Given the description of an element on the screen output the (x, y) to click on. 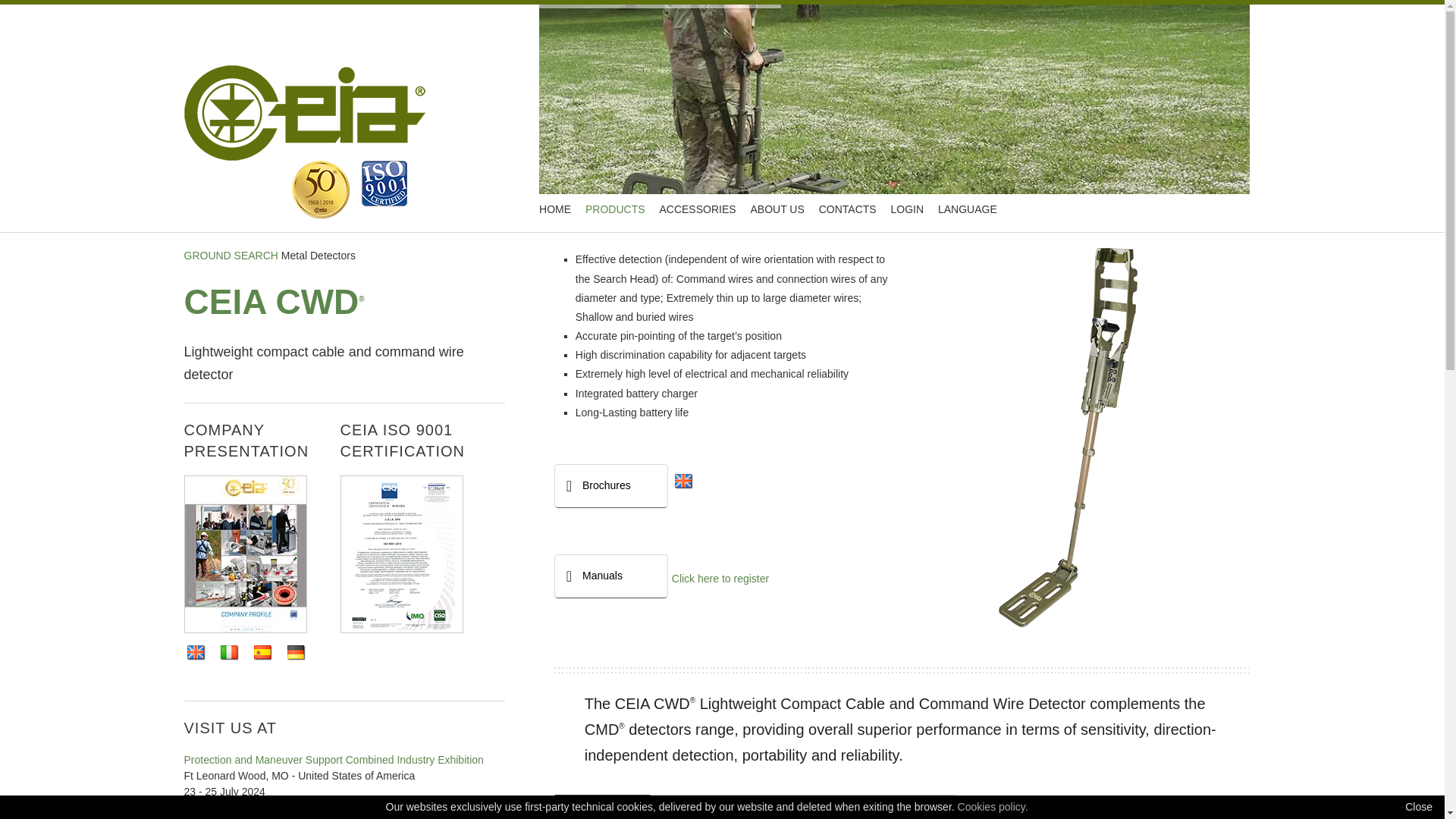
ABOUT US (776, 208)
CEIA Experience (320, 189)
HOME (554, 208)
ACCESSORIES (697, 208)
CEIA ISO 9001 (384, 183)
Click To View English Brochure (684, 481)
PRODUCTS (614, 208)
